Given the description of an element on the screen output the (x, y) to click on. 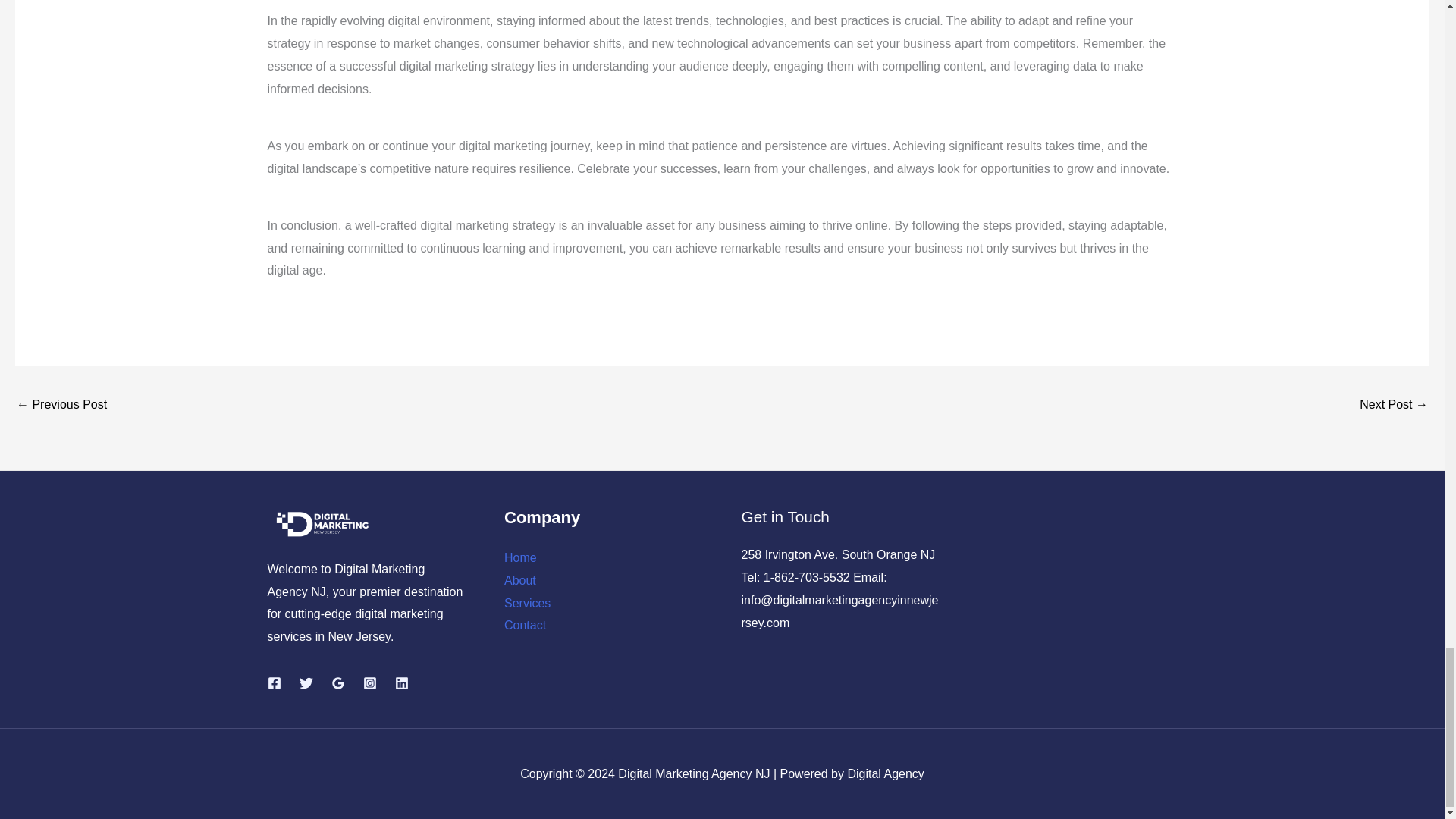
Home (520, 557)
Services (526, 603)
8 Essential Digital Marketing Tips for Small Businesses (61, 406)
About (519, 580)
Contact (524, 625)
